Given the description of an element on the screen output the (x, y) to click on. 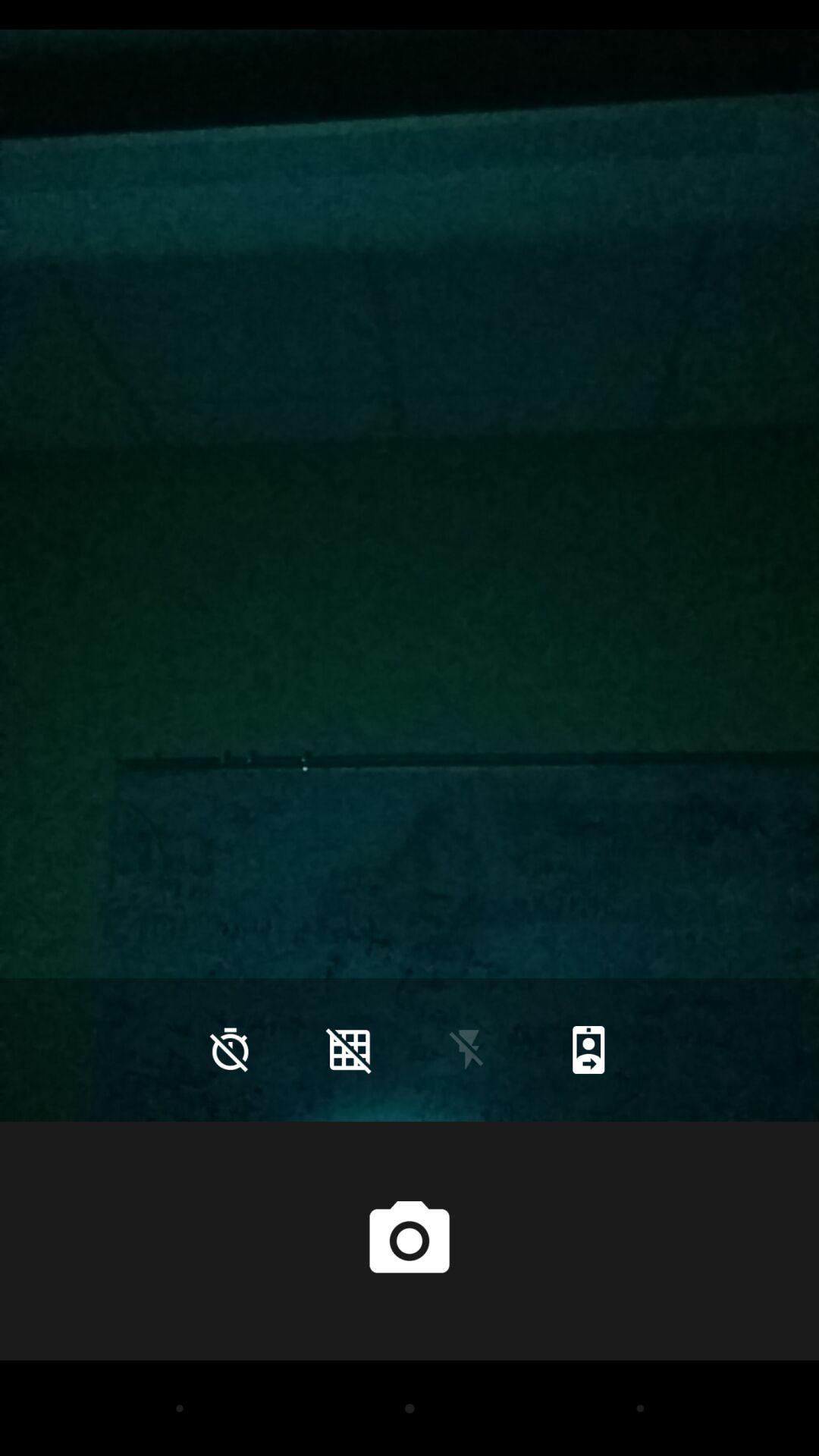
press item at the bottom left corner (230, 1049)
